Given the description of an element on the screen output the (x, y) to click on. 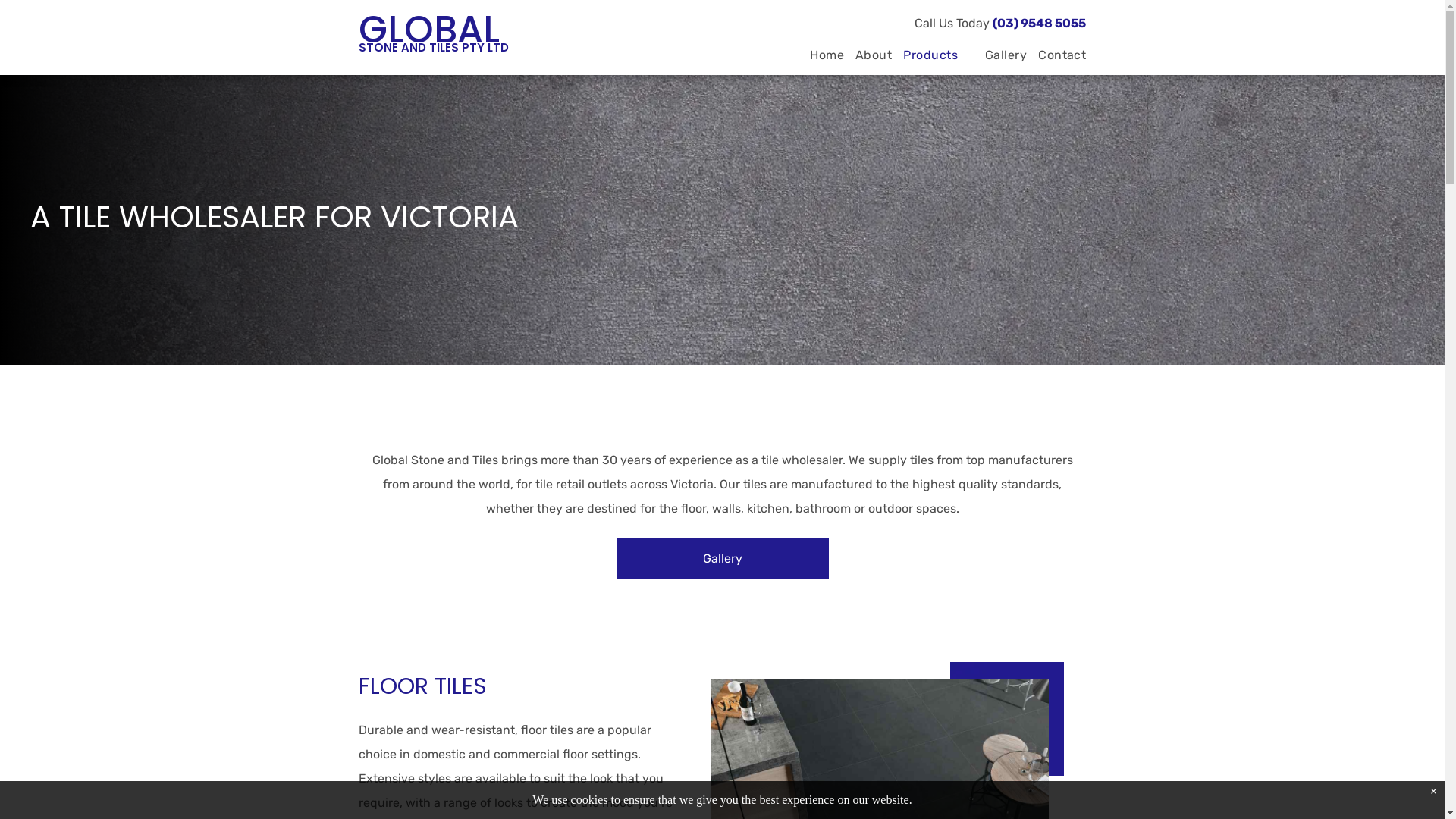
GLOBAL Element type: text (427, 29)
Gallery Element type: text (999, 55)
(03) 9548 5055 Element type: text (1038, 22)
Contact Element type: text (1055, 55)
Gallery Element type: text (721, 557)
About Element type: text (867, 55)
Products Element type: text (931, 55)
Home Element type: text (821, 55)
STONE AND TILES PTY LTD Element type: text (432, 47)
